Given the description of an element on the screen output the (x, y) to click on. 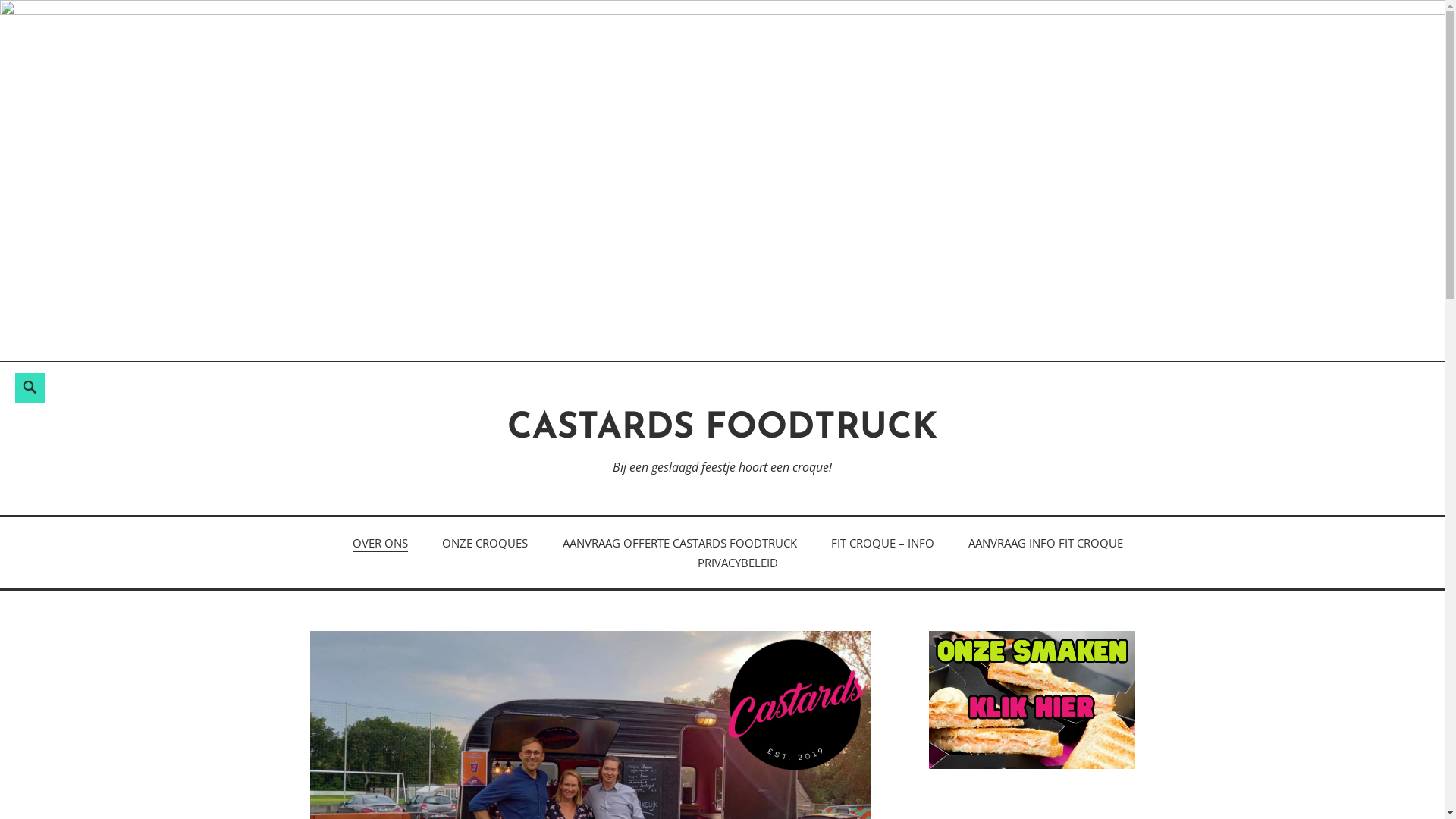
AANVRAAG INFO FIT CROQUE Element type: text (1045, 542)
Search Element type: text (18, 372)
ONZE CROQUES Element type: text (484, 542)
Zoeken Element type: text (238, 384)
OVER ONS Element type: text (379, 543)
CASTARDS FOODTRUCK Element type: text (722, 428)
PRIVACYBELEID Element type: text (737, 562)
AANVRAAG OFFERTE CASTARDS FOODTRUCK Element type: text (679, 542)
